Given the description of an element on the screen output the (x, y) to click on. 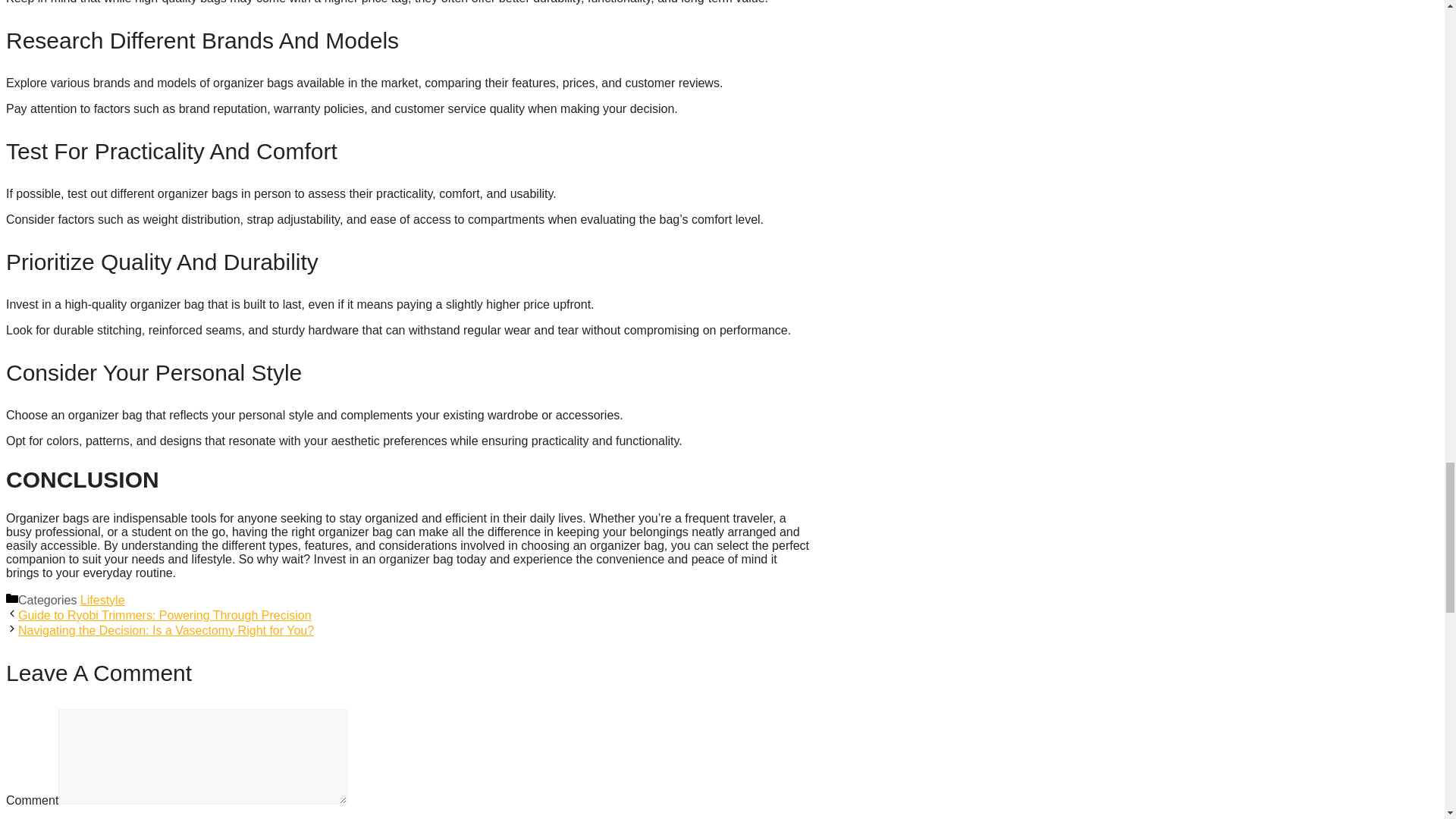
Lifestyle (102, 599)
Guide to Ryobi Trimmers: Powering Through Precision (164, 615)
Navigating the Decision: Is a Vasectomy Right for You? (165, 630)
